Given the description of an element on the screen output the (x, y) to click on. 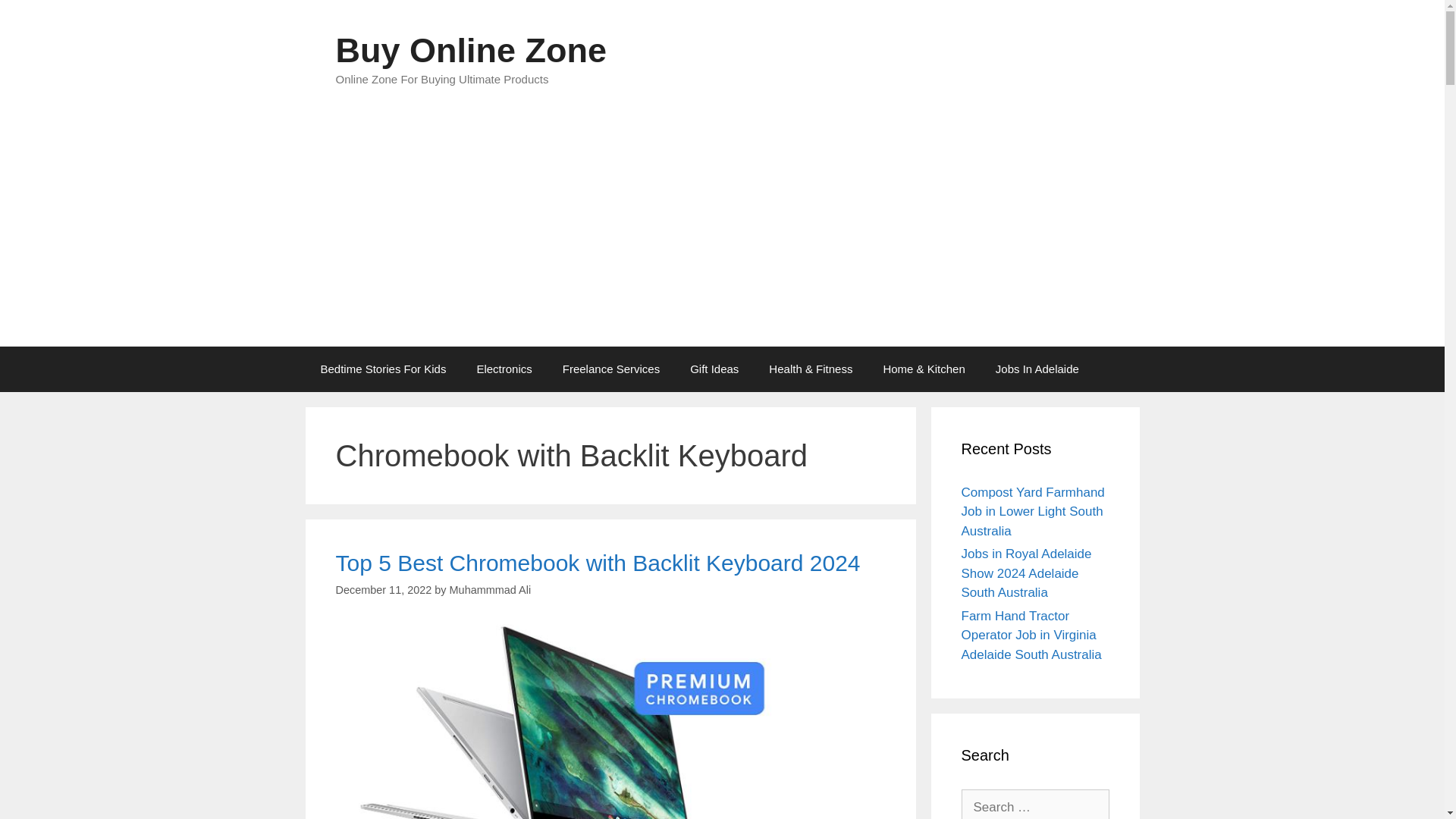
Compost Yard Farmhand Job in Lower Light South Australia (1032, 511)
Search for: (1034, 804)
View all posts by Muhammmad Ali (490, 589)
Bedtime Stories For Kids (382, 368)
Buy Online Zone (470, 50)
Top 5 Best Chromebook with Backlit Keyboard 2024 (597, 562)
Search (36, 18)
Jobs in Royal Adelaide Show 2024 Adelaide South Australia (1026, 573)
Freelance Services (611, 368)
Jobs In Adelaide (1036, 368)
Electronics (504, 368)
Muhammmad Ali (490, 589)
Gift Ideas (714, 368)
